Given the description of an element on the screen output the (x, y) to click on. 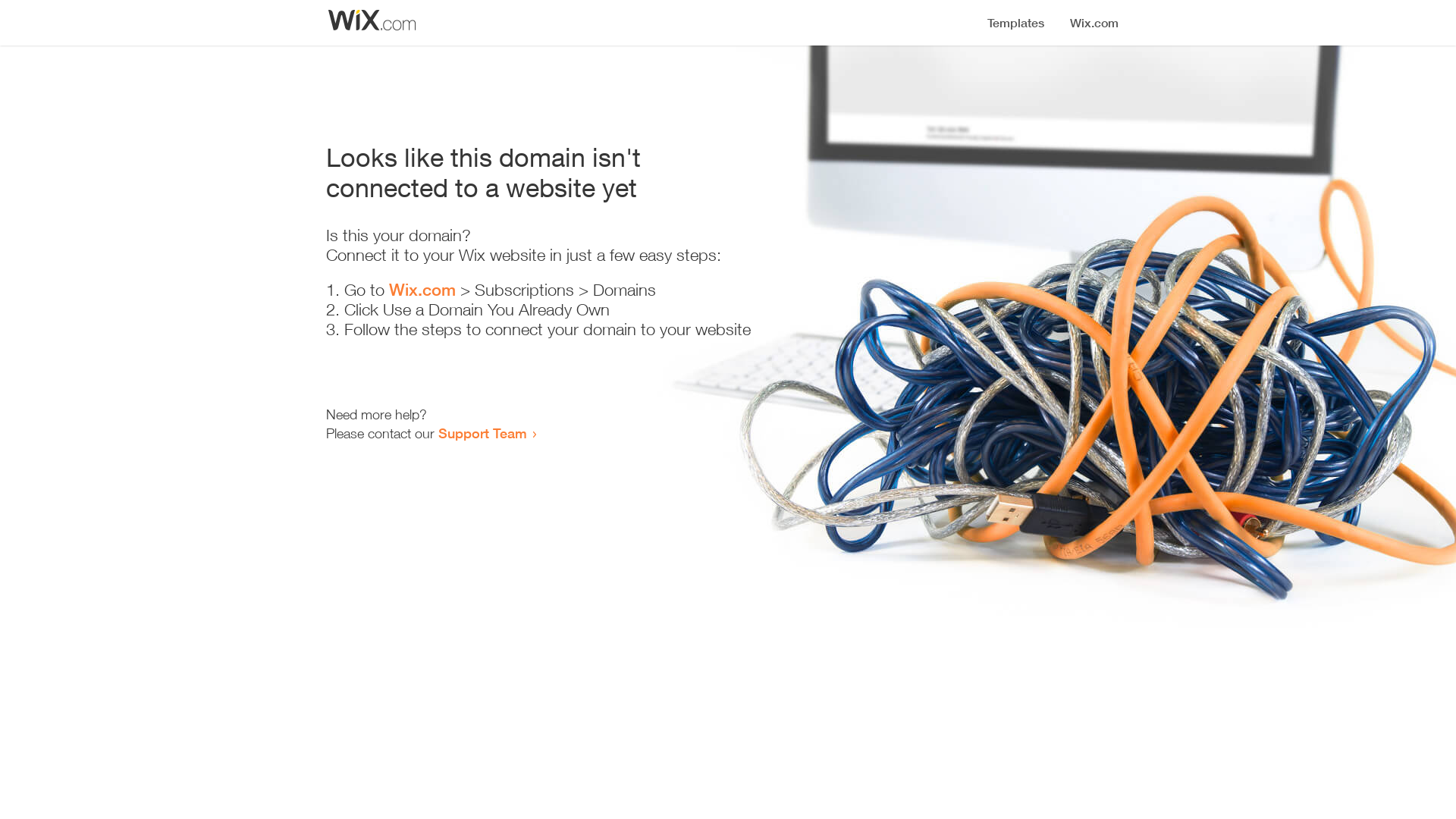
Support Team Element type: text (482, 432)
Wix.com Element type: text (422, 289)
